Given the description of an element on the screen output the (x, y) to click on. 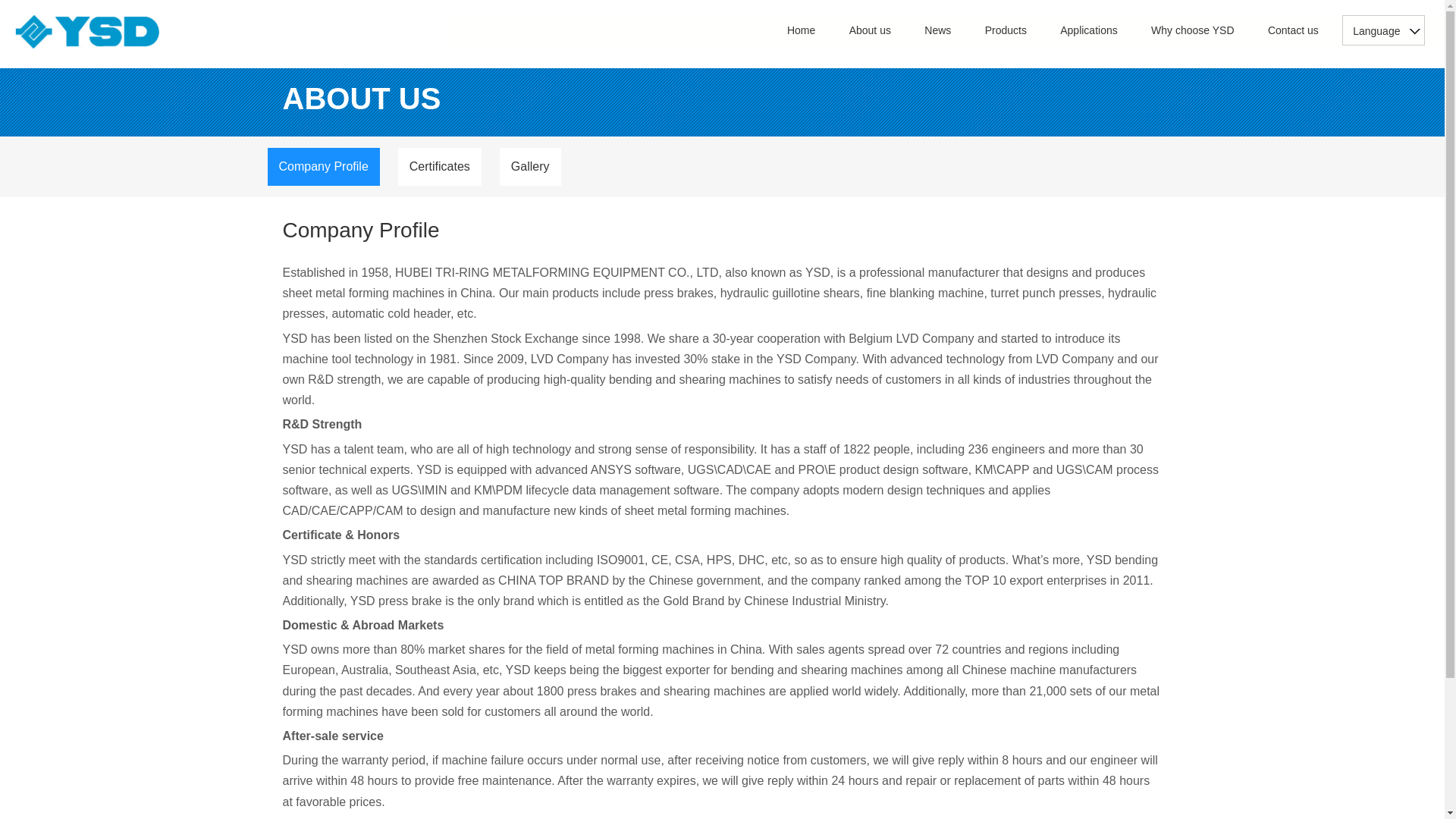
YSD (86, 31)
Why choose YSD (1192, 30)
Applications (1088, 30)
News (937, 30)
Home (801, 30)
Products (1005, 30)
About us (869, 30)
